Given the description of an element on the screen output the (x, y) to click on. 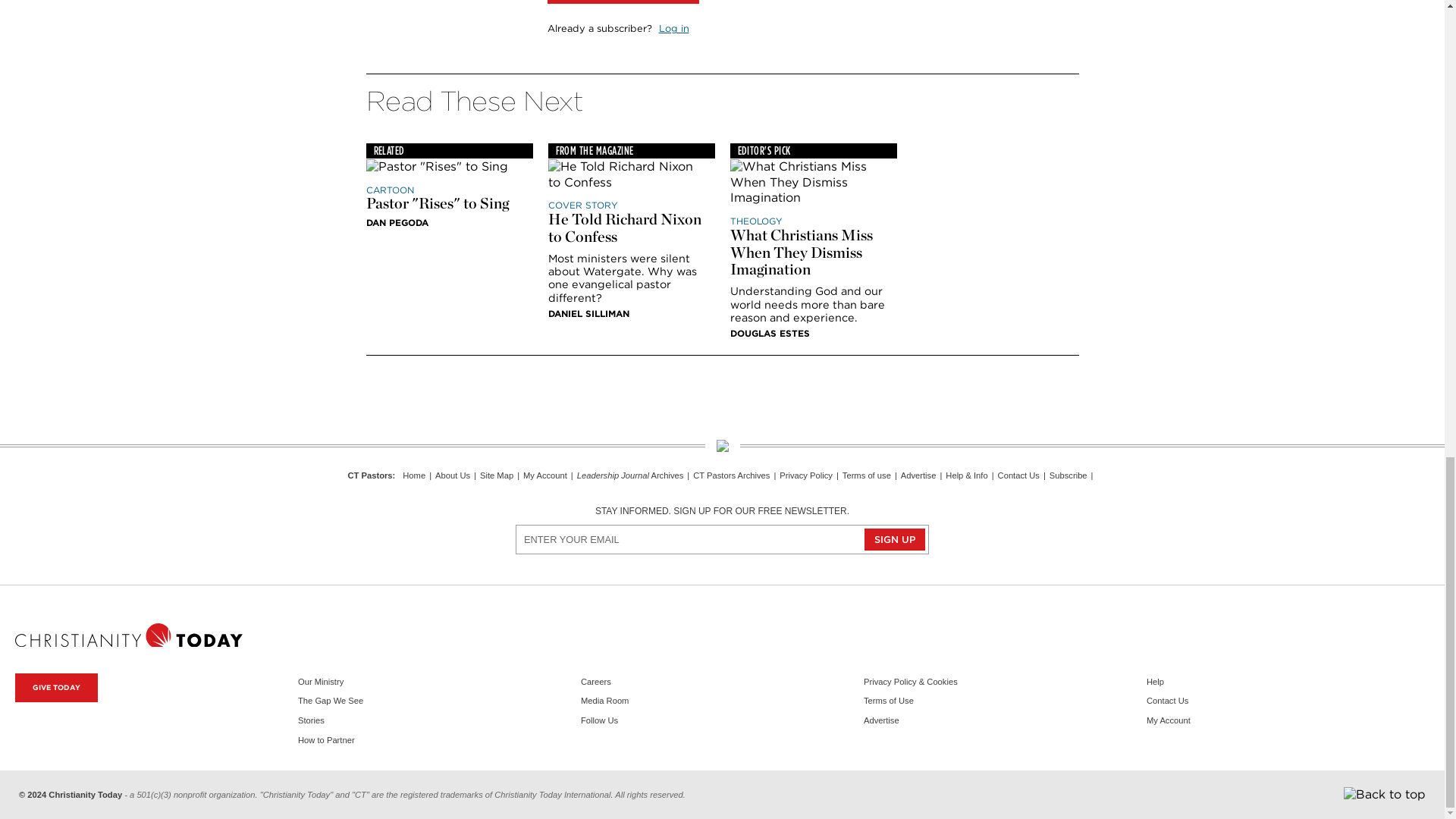
Sign Up (894, 539)
